Given the description of an element on the screen output the (x, y) to click on. 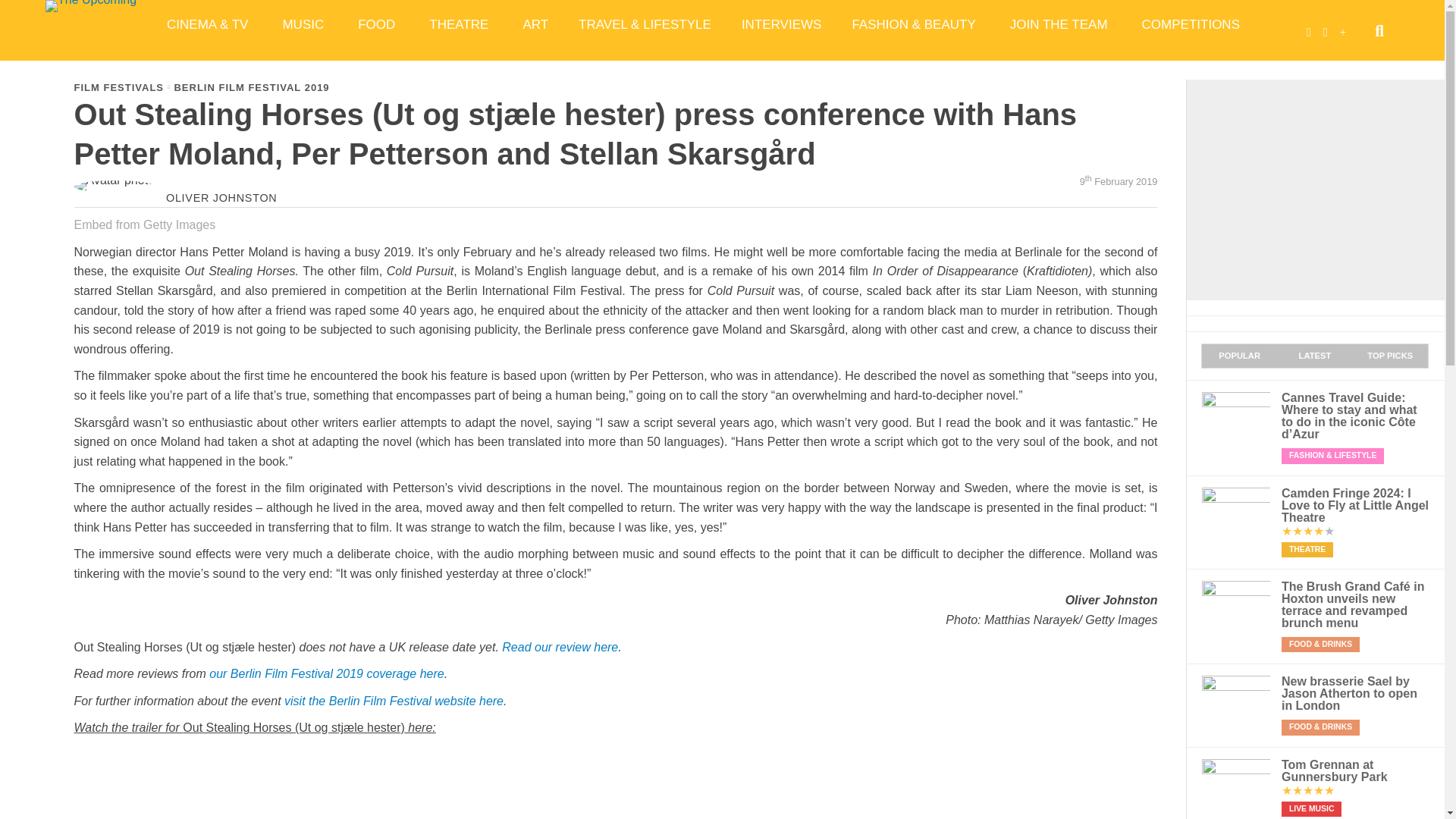
INTERVIEWS (780, 24)
THEATRE (459, 24)
JOIN THE TEAM (1060, 24)
MUSIC (304, 24)
ART (534, 24)
FOOD (377, 24)
